Given the description of an element on the screen output the (x, y) to click on. 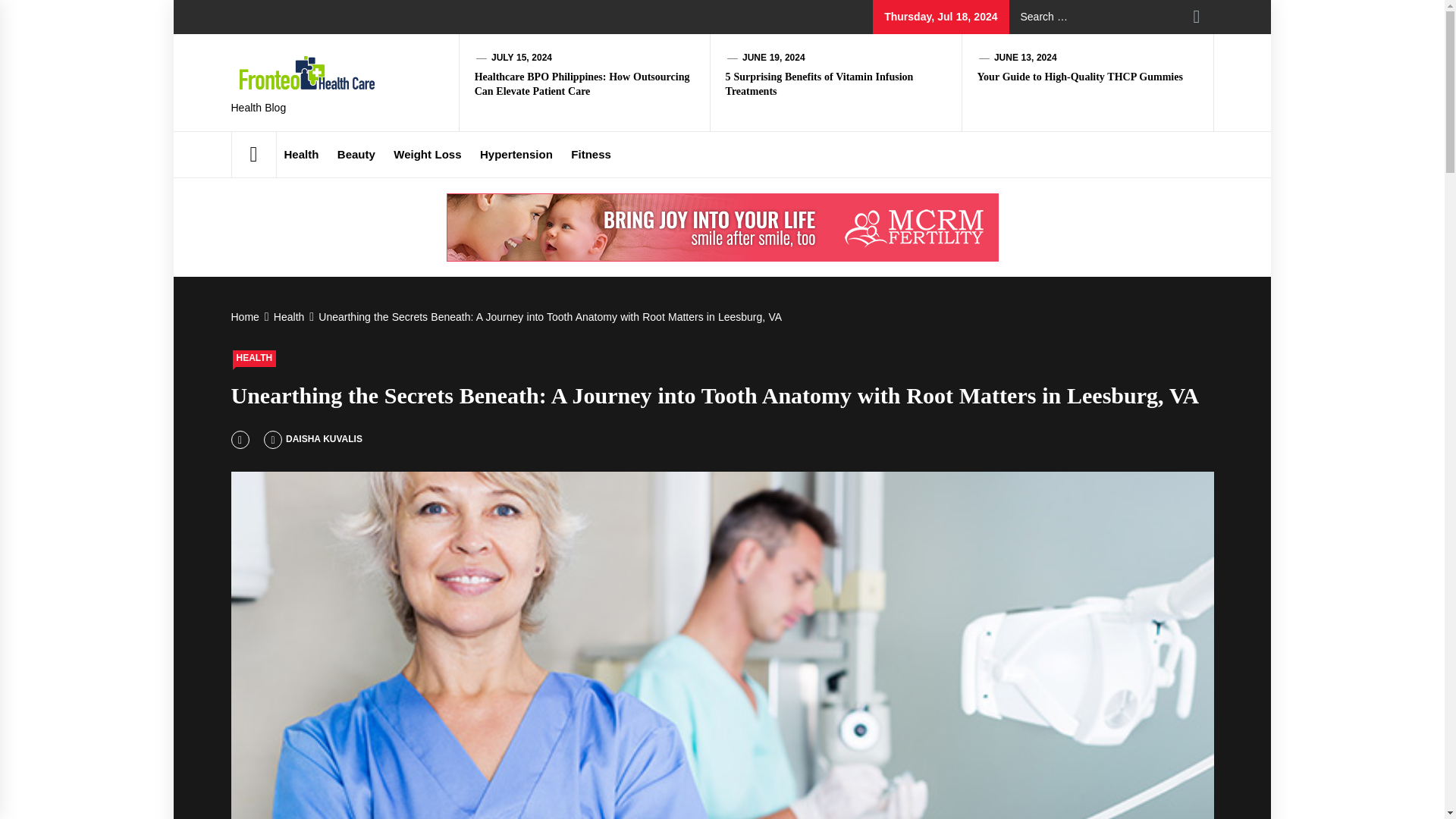
Fronteo Health Care (439, 105)
Home (246, 316)
HEALTH (253, 358)
Weight Loss (426, 154)
Beauty (356, 154)
Health (301, 154)
JUNE 13, 2024 (1025, 57)
Hypertension (515, 154)
5 Surprising Benefits of Vitamin Infusion Treatments (819, 84)
JUNE 19, 2024 (773, 57)
Search (1196, 17)
Fitness (590, 154)
Health (286, 316)
